Given the description of an element on the screen output the (x, y) to click on. 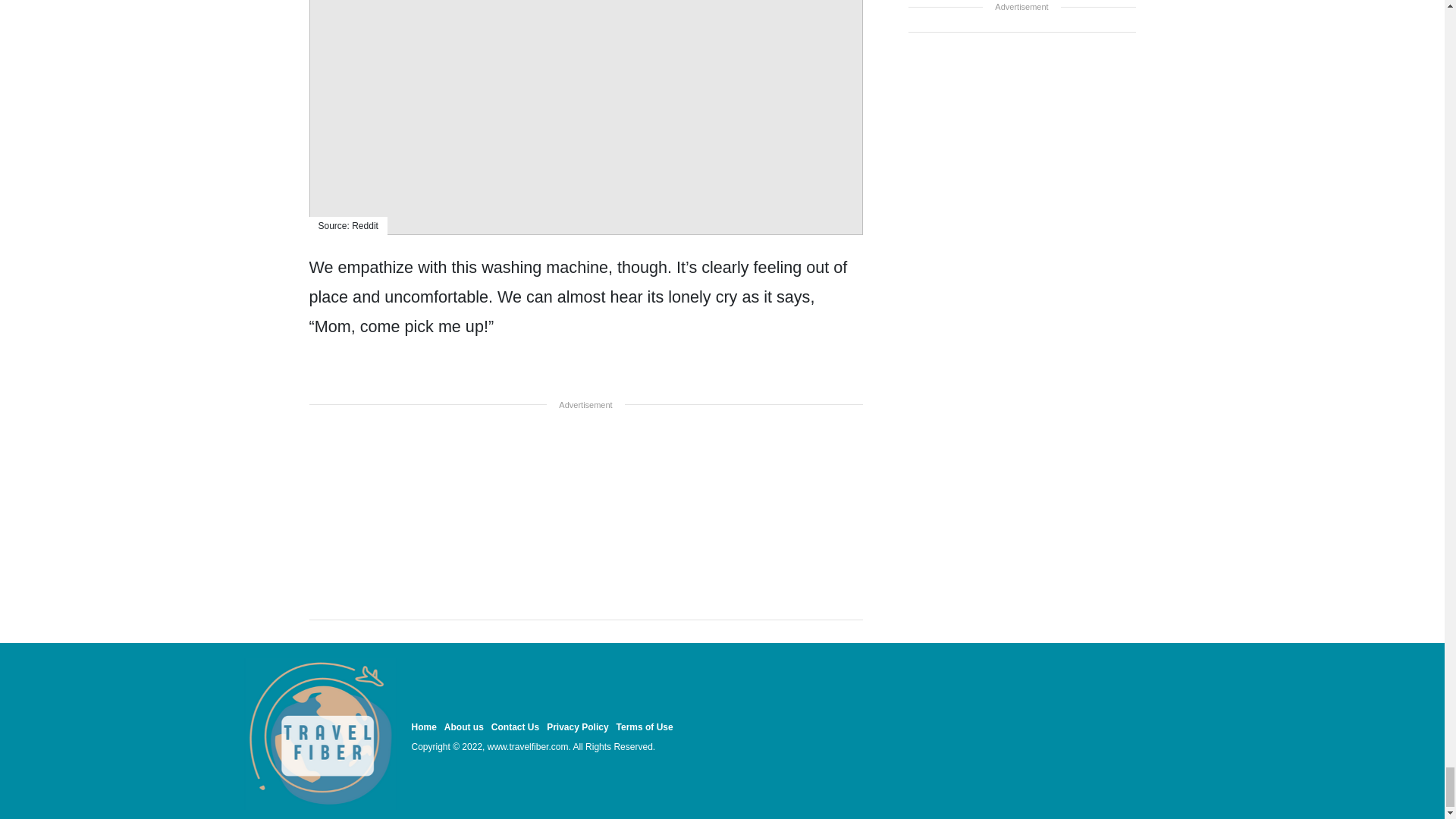
Contact Us (515, 726)
Privacy Policy (577, 726)
Home (422, 726)
About us (463, 726)
Terms of Use (643, 726)
